Given the description of an element on the screen output the (x, y) to click on. 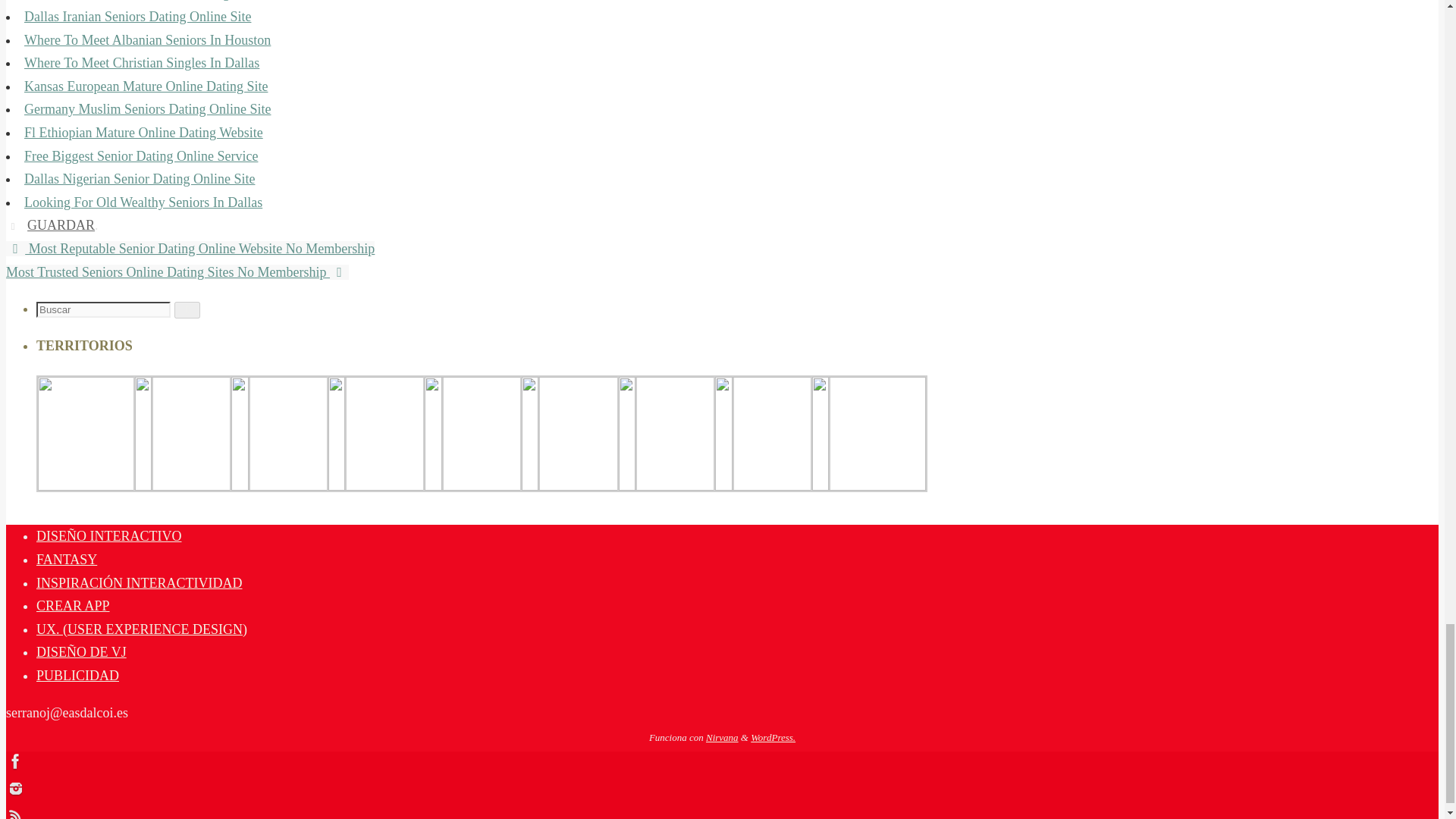
Guardar enlace permanente (14, 224)
Nirvana Theme by Cryout Creations (722, 737)
